Given the description of an element on the screen output the (x, y) to click on. 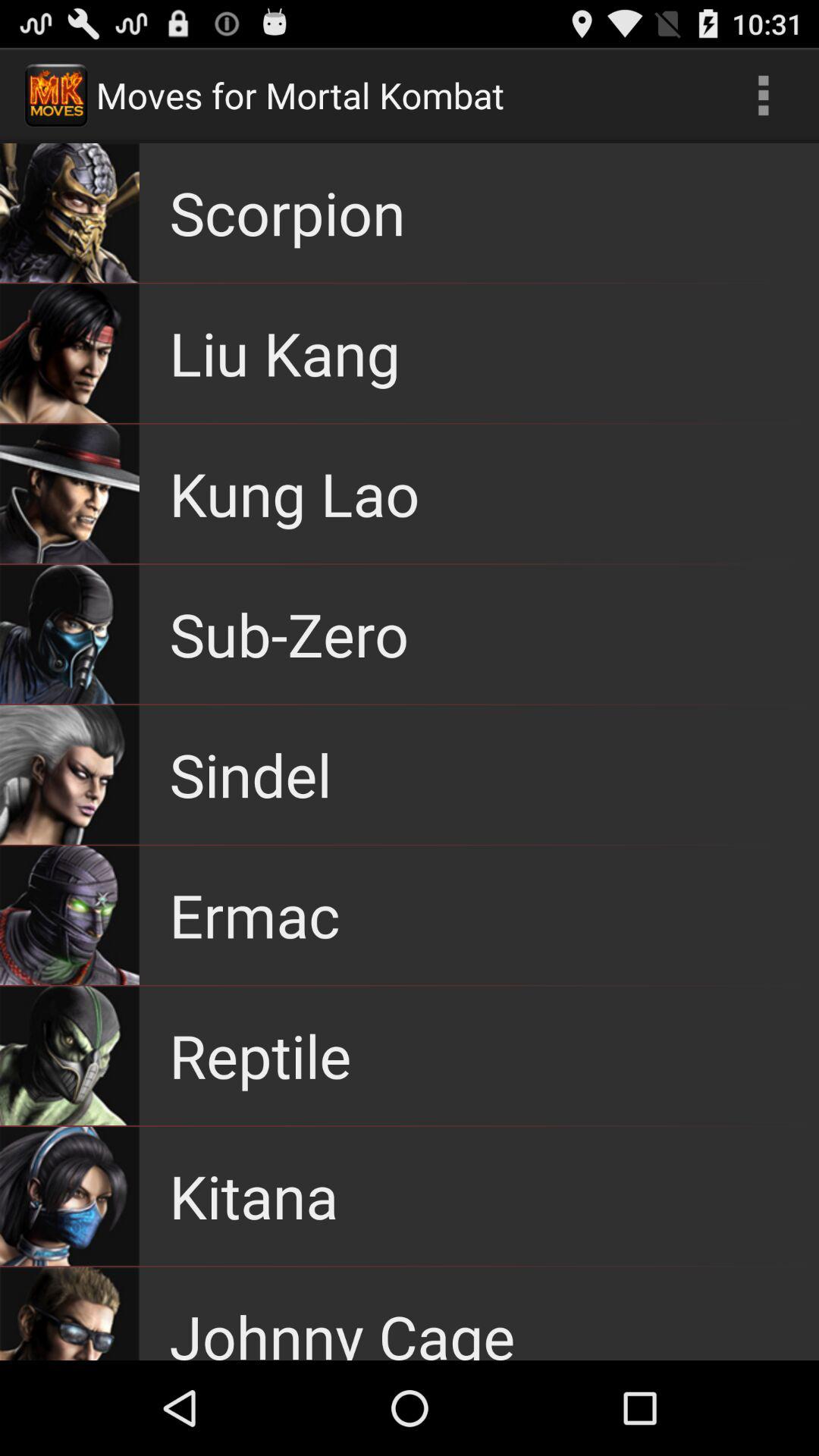
select item below sub-zero app (250, 774)
